Given the description of an element on the screen output the (x, y) to click on. 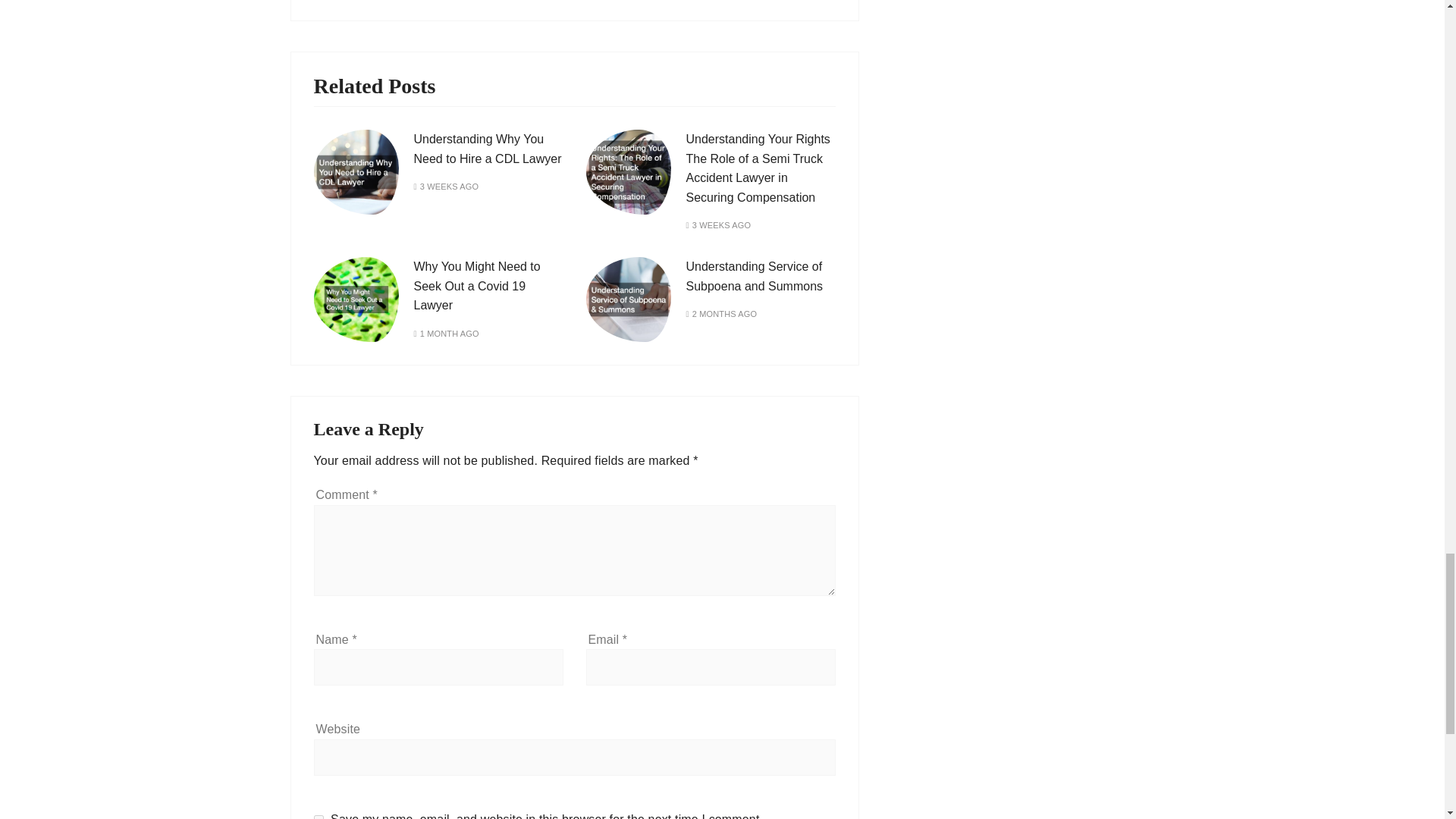
Understanding Service of Subpoena and Summons (753, 276)
Understanding Why You Need to Hire a CDL Lawyer (487, 148)
Why You Might Need to Seek Out a Covid 19 Lawyer (476, 286)
yes (318, 816)
